Given the description of an element on the screen output the (x, y) to click on. 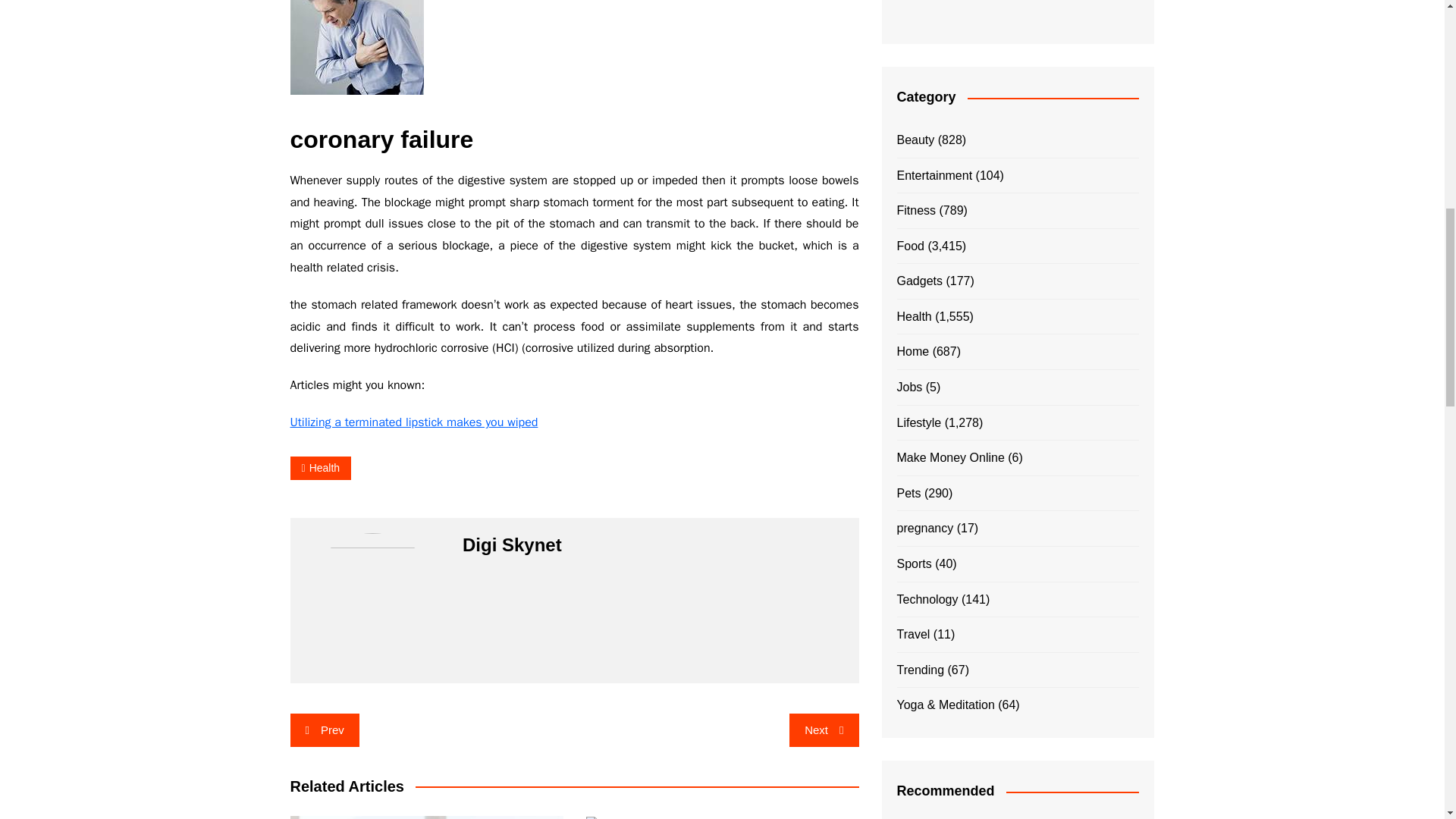
Utilizing a terminated lipstick makes you wiped (413, 421)
10 Signs Prior to telling Your Pregnancy (425, 817)
Prev (323, 729)
Next (824, 729)
Health (319, 467)
Indication of coronary failure connected to stomach (356, 47)
